Given the description of an element on the screen output the (x, y) to click on. 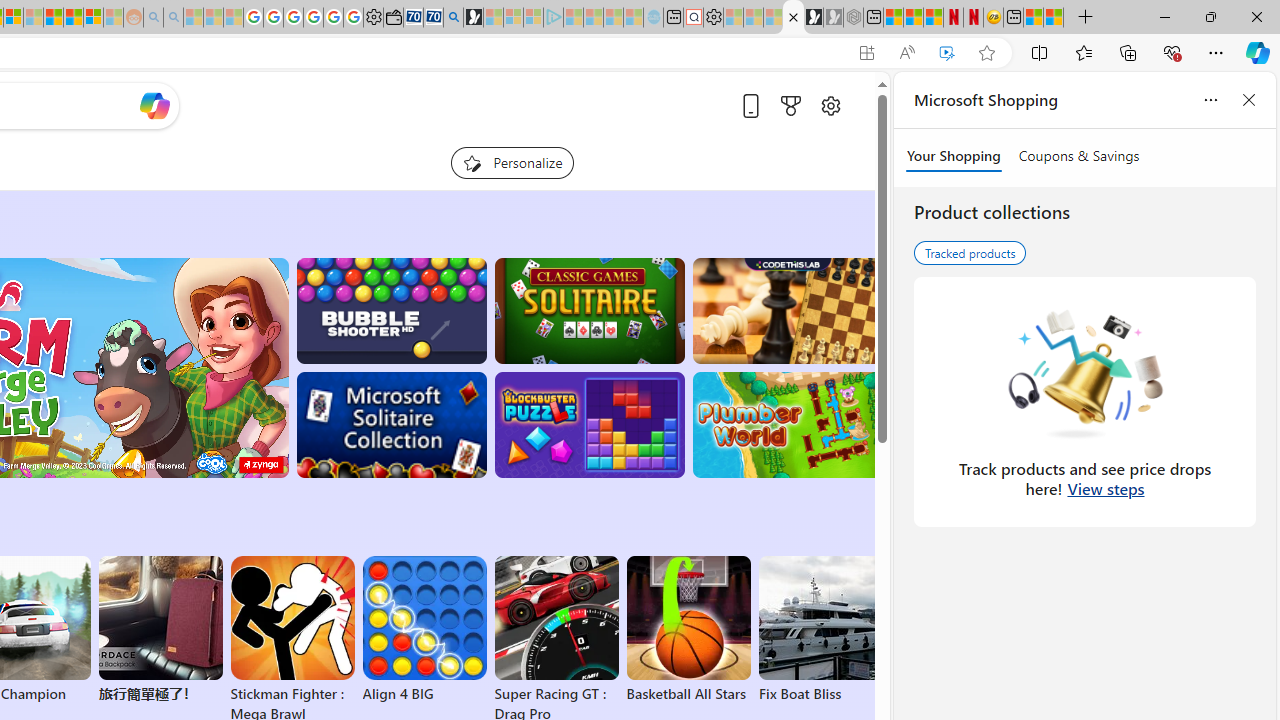
Classic Solitaire (589, 310)
Kinda Frugal - MSN (73, 17)
Plumber World (787, 425)
